Given the description of an element on the screen output the (x, y) to click on. 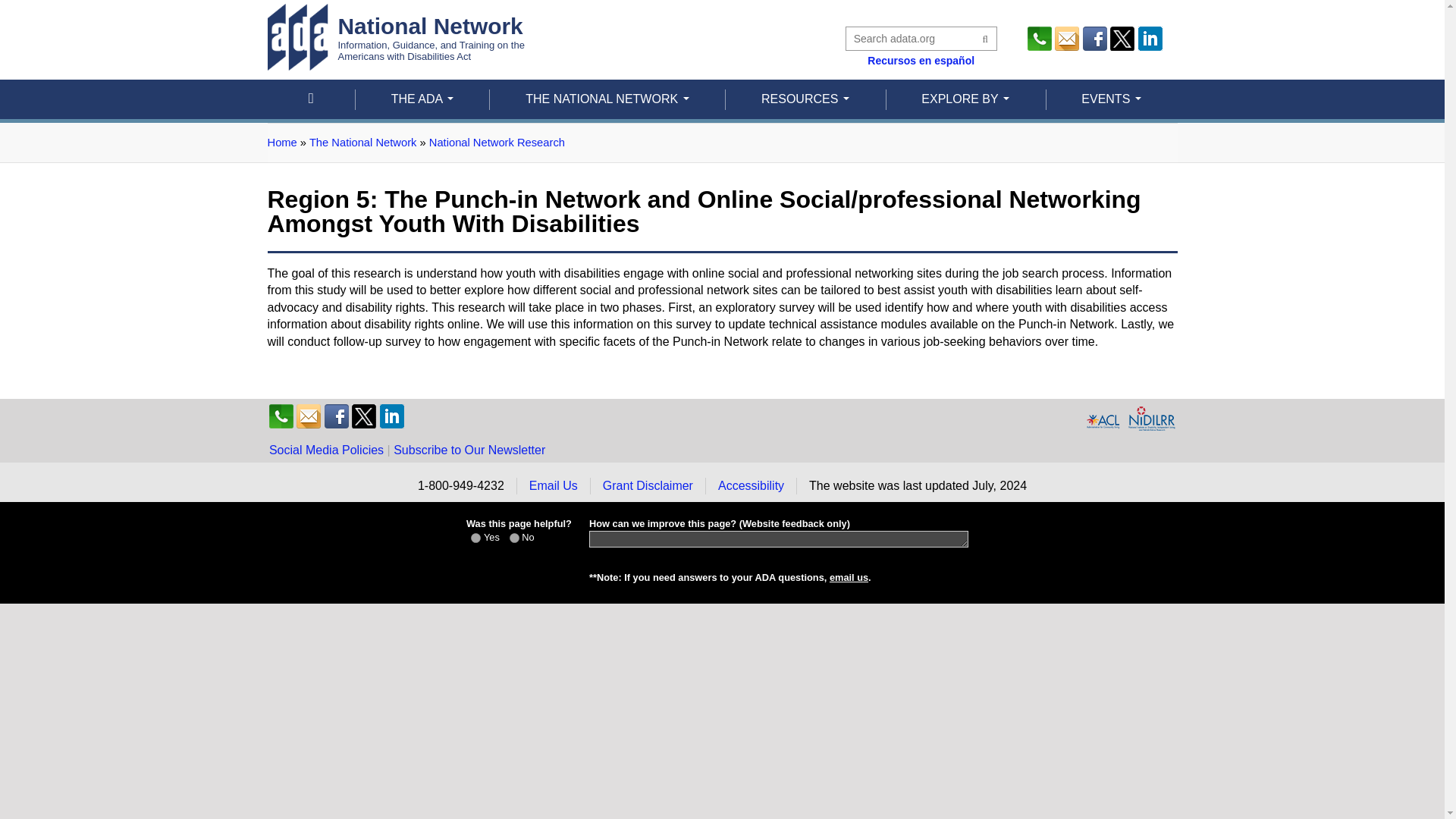
Email Us (1066, 38)
EXPLORE BY (965, 98)
No (514, 537)
RESOURCES (805, 98)
submit (983, 39)
Home (395, 37)
Follow ADANN (1094, 38)
Yes (475, 537)
THE NATIONAL NETWORK (607, 98)
Call Us (1039, 38)
LinkedIn ADANN (1149, 38)
home (309, 98)
THE ADA (422, 98)
